Given the description of an element on the screen output the (x, y) to click on. 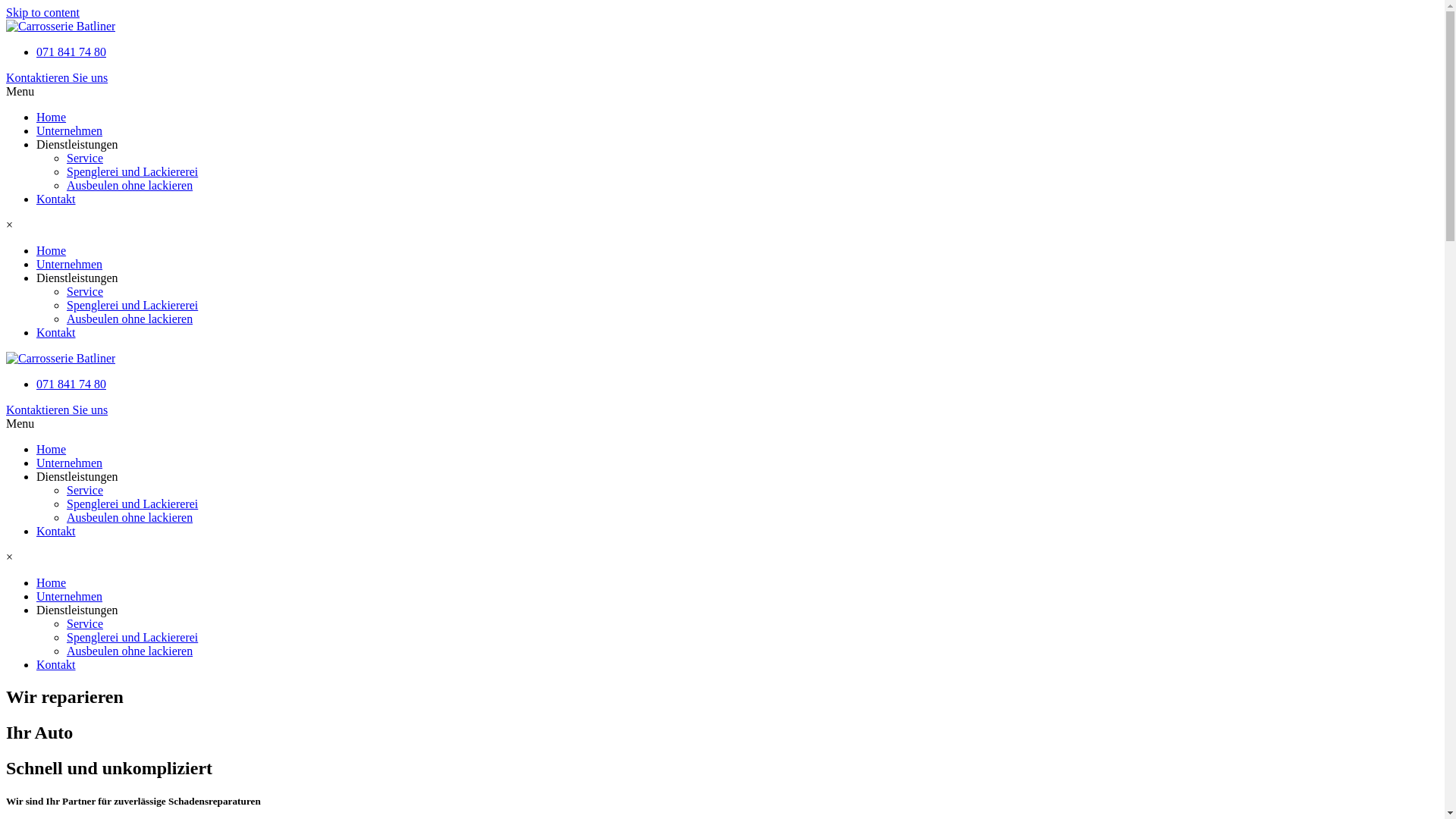
Ausbeulen ohne lackieren Element type: text (129, 318)
Service Element type: text (84, 157)
Unternehmen Element type: text (69, 462)
Kontakt Element type: text (55, 530)
Home Element type: text (50, 448)
Kontakt Element type: text (55, 332)
Ausbeulen ohne lackieren Element type: text (129, 650)
Unternehmen Element type: text (69, 595)
Unternehmen Element type: text (69, 263)
Home Element type: text (50, 250)
071 841 74 80 Element type: text (71, 51)
Kontakt Element type: text (55, 664)
Home Element type: text (50, 116)
Service Element type: text (84, 291)
Spenglerei und Lackiererei Element type: text (131, 171)
Spenglerei und Lackiererei Element type: text (131, 503)
071 841 74 80 Element type: text (71, 383)
Unternehmen Element type: text (69, 130)
Dienstleistungen Element type: text (77, 144)
Ausbeulen ohne lackieren Element type: text (129, 184)
Dienstleistungen Element type: text (77, 277)
Spenglerei und Lackiererei Element type: text (131, 304)
Kontaktieren Sie uns Element type: text (722, 410)
Service Element type: text (84, 623)
Dienstleistungen Element type: text (77, 476)
Spenglerei und Lackiererei Element type: text (131, 636)
Kontakt Element type: text (55, 198)
Home Element type: text (50, 582)
Skip to content Element type: text (42, 12)
Ausbeulen ohne lackieren Element type: text (129, 517)
Dienstleistungen Element type: text (77, 609)
Service Element type: text (84, 489)
Kontaktieren Sie uns Element type: text (722, 77)
